Given the description of an element on the screen output the (x, y) to click on. 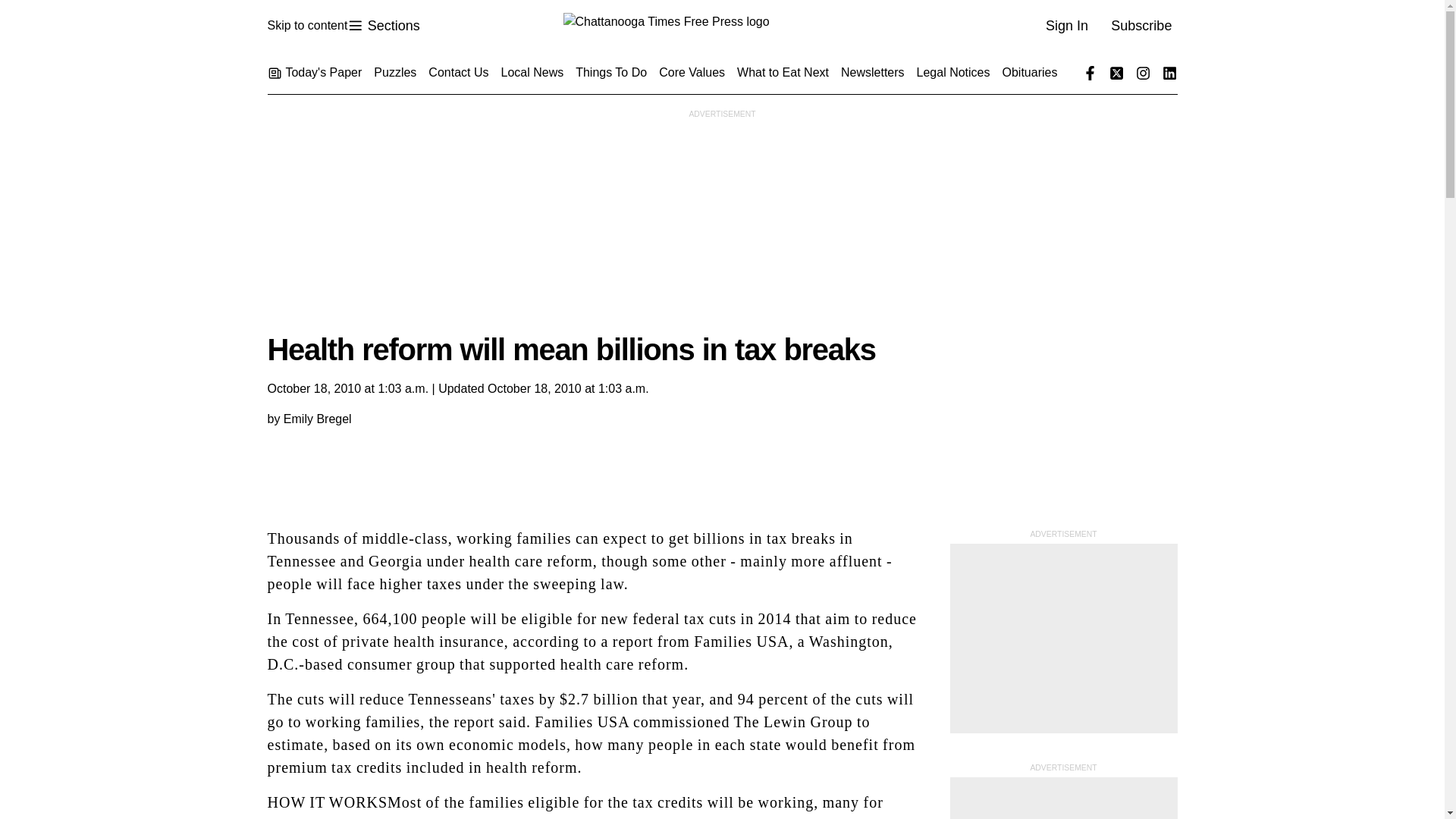
Skip to content (383, 25)
Times Free Press (306, 25)
